Given the description of an element on the screen output the (x, y) to click on. 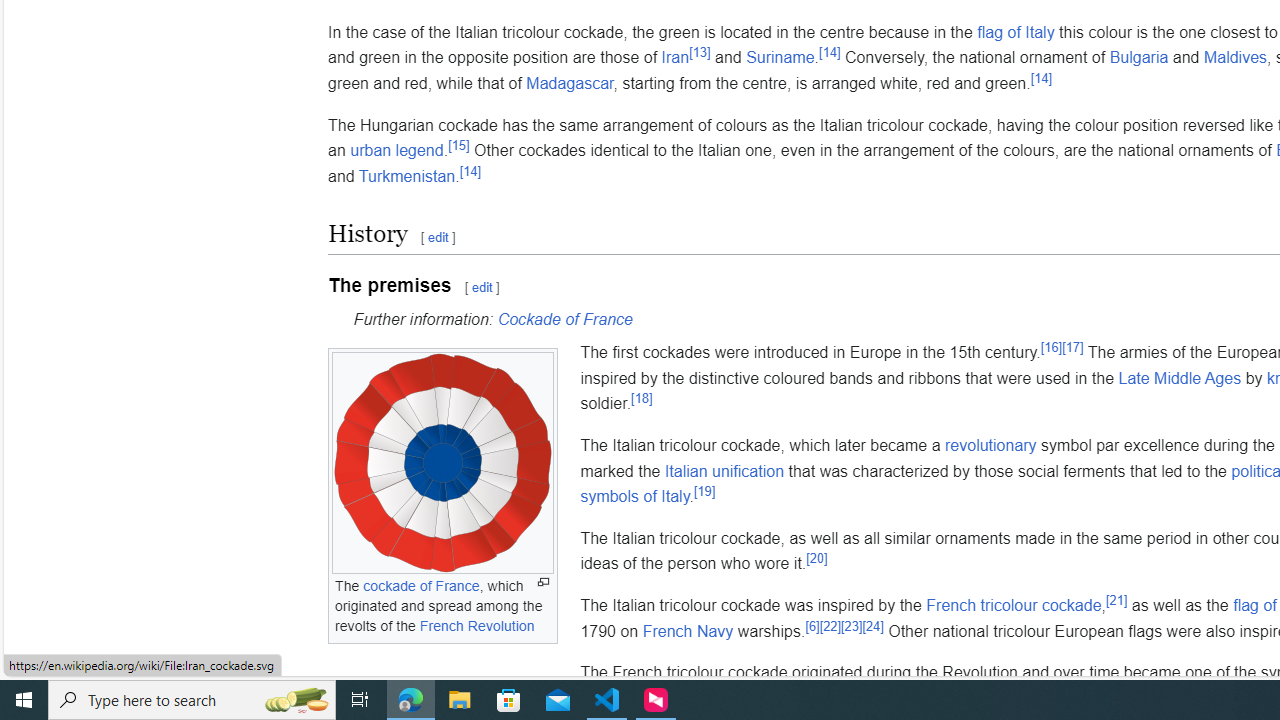
[23] (851, 625)
French Revolution (476, 625)
Turkmenistan (406, 176)
revolutionary (990, 445)
[6] (812, 625)
Cockade of France (564, 319)
Class: mw-file-description (442, 463)
[20] (817, 557)
Iran (674, 57)
[16] (1050, 346)
French tricolour cockade (1013, 605)
Late Middle Ages (1179, 377)
Maldives (1235, 57)
flag of Italy (1015, 32)
[14] (470, 170)
